Given the description of an element on the screen output the (x, y) to click on. 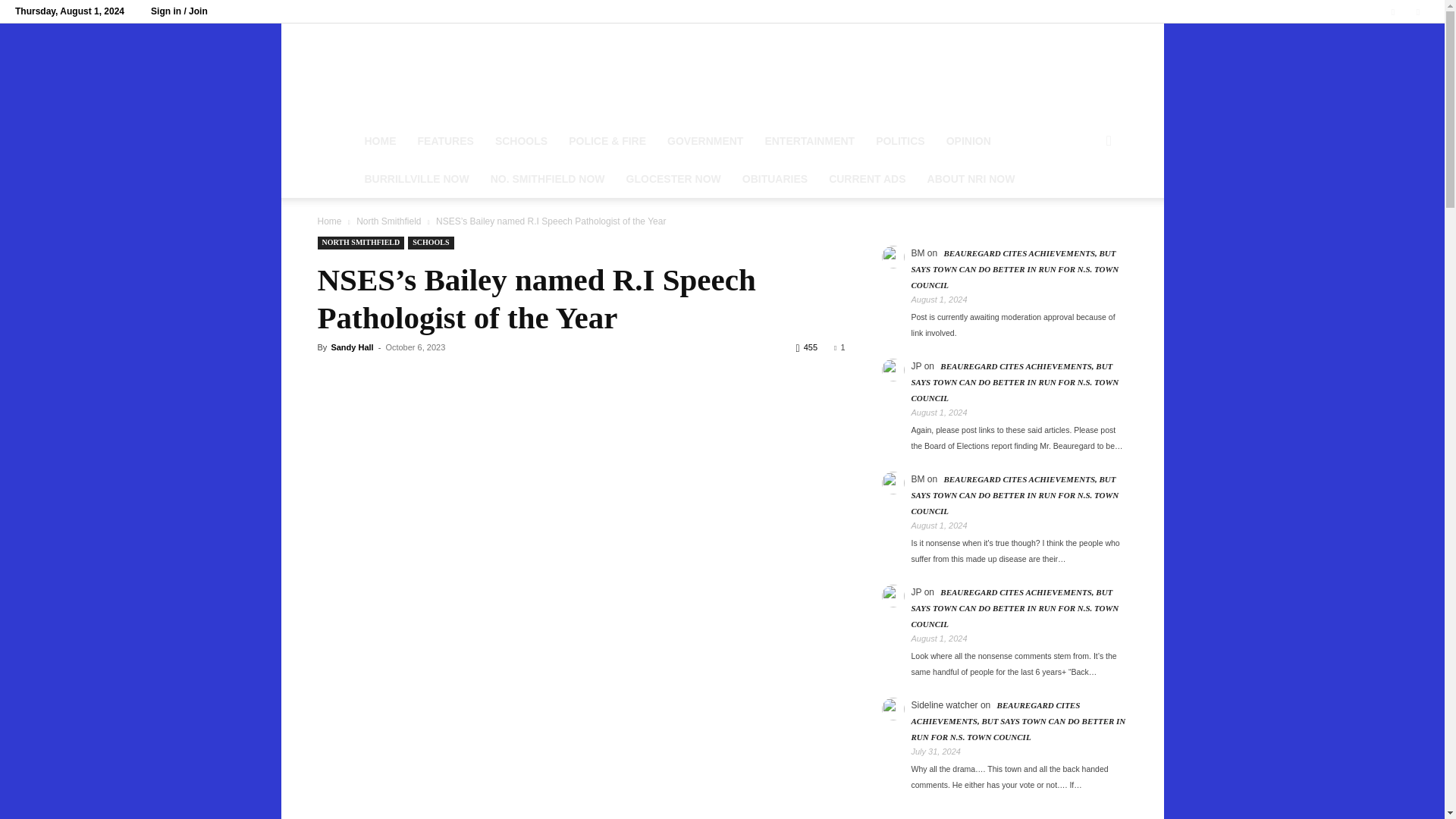
FEATURES (444, 140)
Twitter (1417, 11)
BURRILLVILLE NOW (416, 178)
GOVERNMENT (705, 140)
SCHOOLS (520, 140)
POLITICS (900, 140)
Facebook (1393, 11)
ENTERTAINMENT (809, 140)
OPINION (968, 140)
HOME (379, 140)
